Given the description of an element on the screen output the (x, y) to click on. 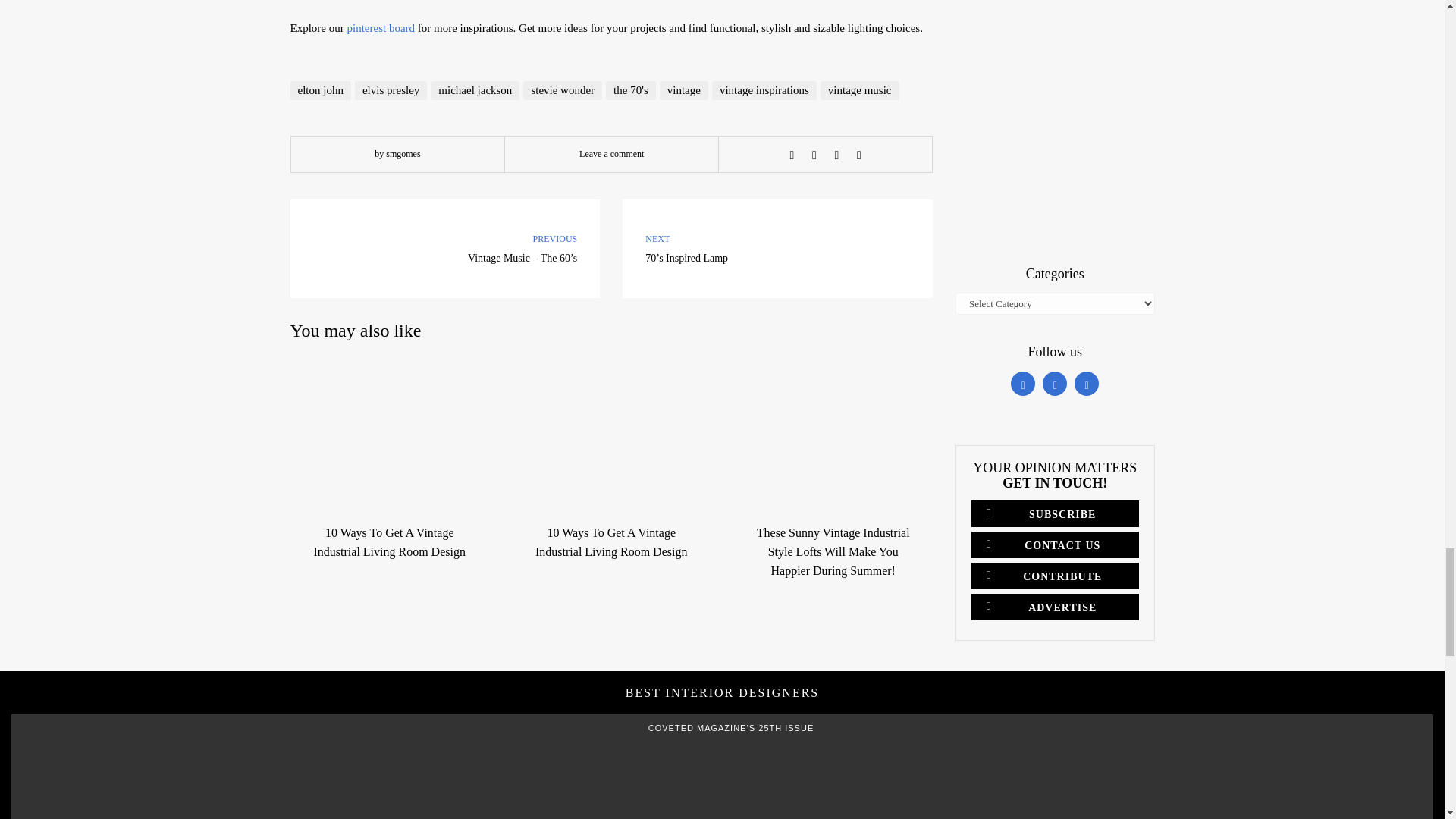
Share this (791, 155)
vintage (683, 90)
the 70's (630, 90)
10 Ways To Get A Vintage Industrial Living Room Design (611, 542)
vintage inspirations (763, 90)
elton john (319, 90)
Share with Google Plus (836, 155)
Vintage Industrial Pinterest (380, 28)
10 Ways To Get A Vintage Industrial Living Room Design (388, 542)
Leave a comment (611, 153)
